Given the description of an element on the screen output the (x, y) to click on. 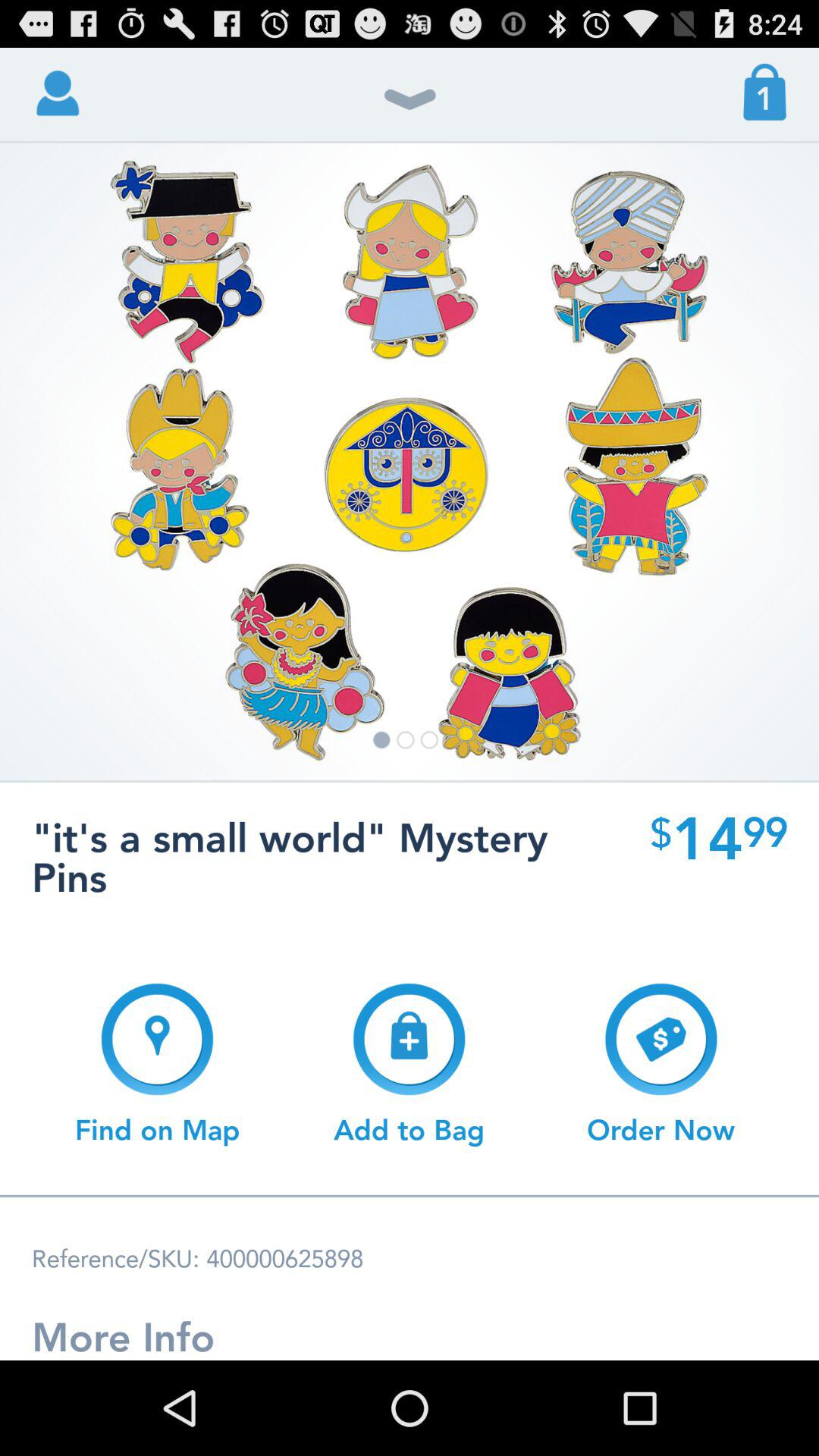
turn on the app below it s a (661, 1064)
